Given the description of an element on the screen output the (x, y) to click on. 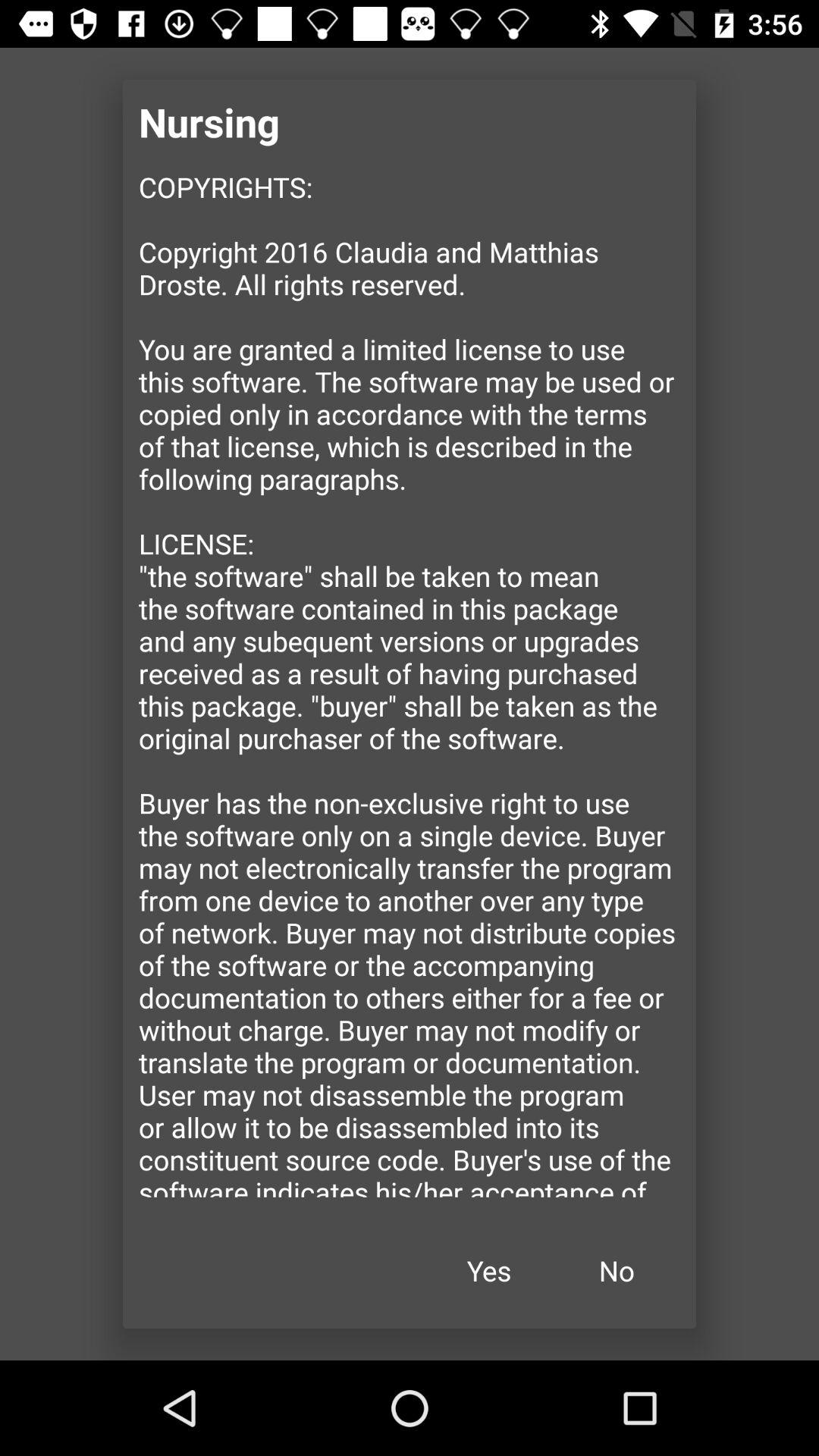
click no icon (616, 1270)
